Given the description of an element on the screen output the (x, y) to click on. 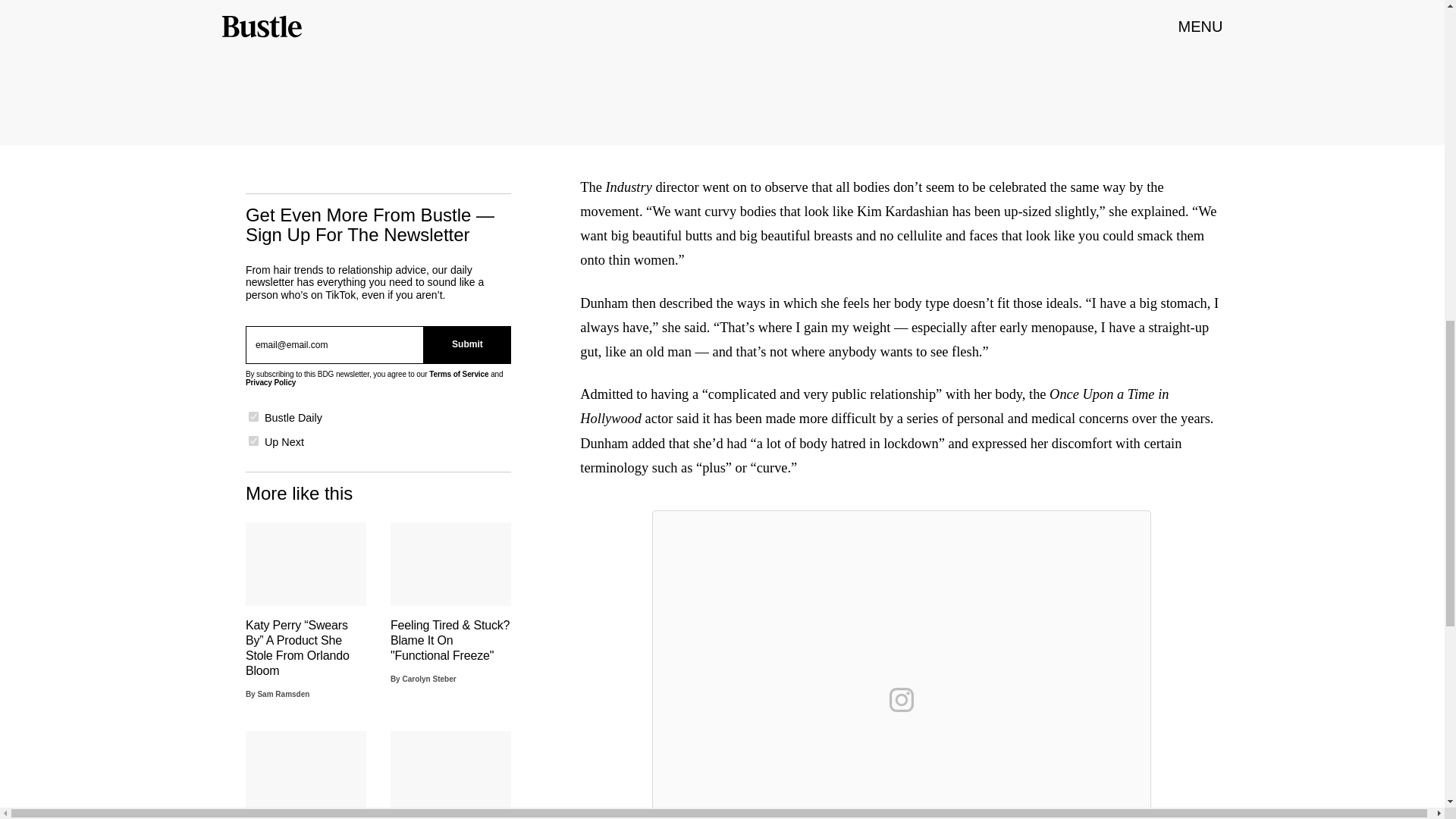
Submit (467, 344)
View on Instagram (901, 699)
Privacy Policy (270, 382)
Terms of Service (458, 374)
